Given the description of an element on the screen output the (x, y) to click on. 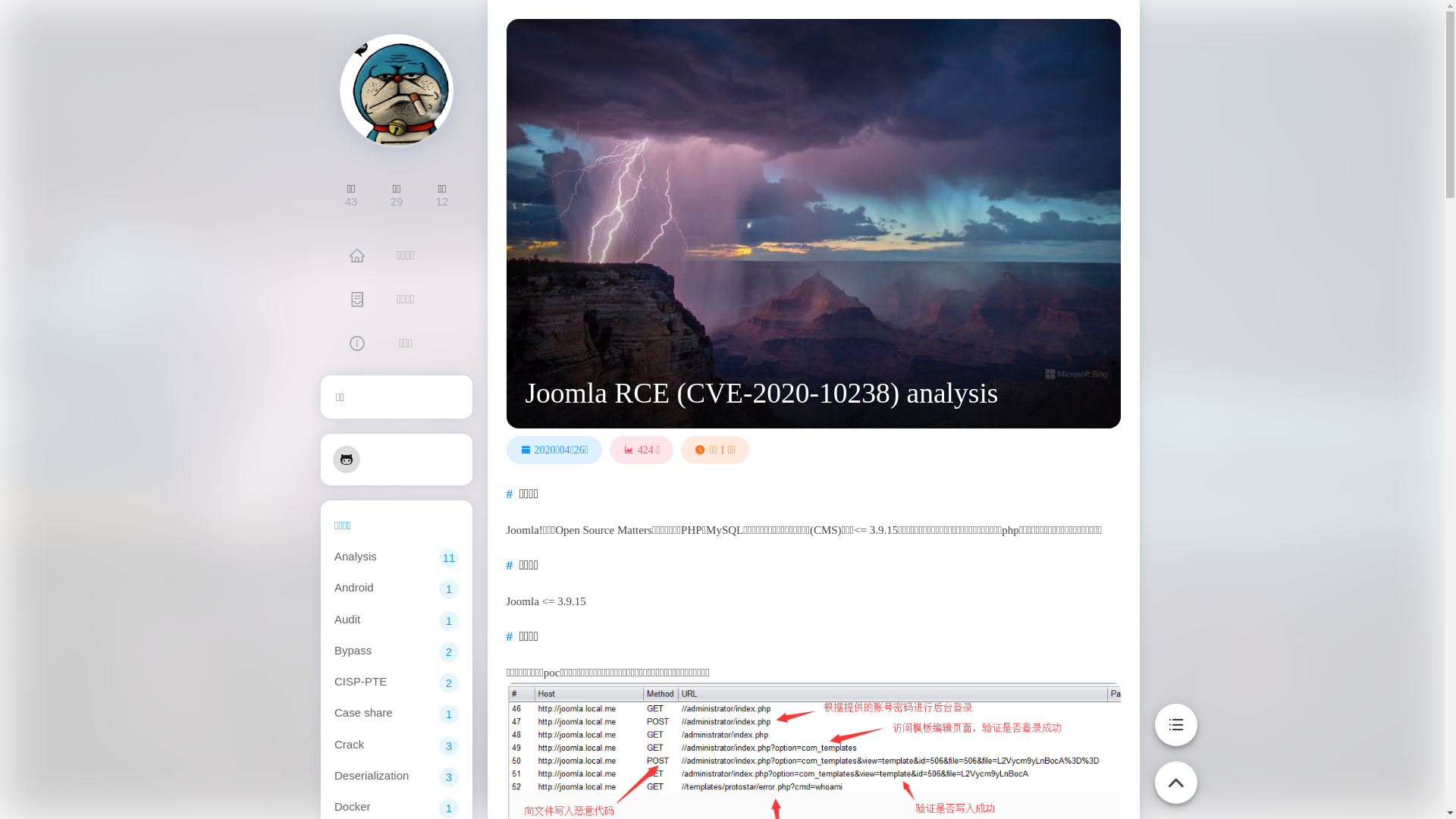
Deserialization Element type: text (370, 774)
S0cke3t Element type: hover (396, 90)
Docker Element type: text (351, 806)
Analysis Element type: text (354, 555)
Bypass Element type: text (351, 649)
CISP-PTE Element type: text (359, 680)
top Element type: hover (1175, 773)
Audit Element type: text (346, 618)
Crack Element type: text (348, 743)
Case share Element type: text (362, 712)
Android Element type: text (353, 586)
